Given the description of an element on the screen output the (x, y) to click on. 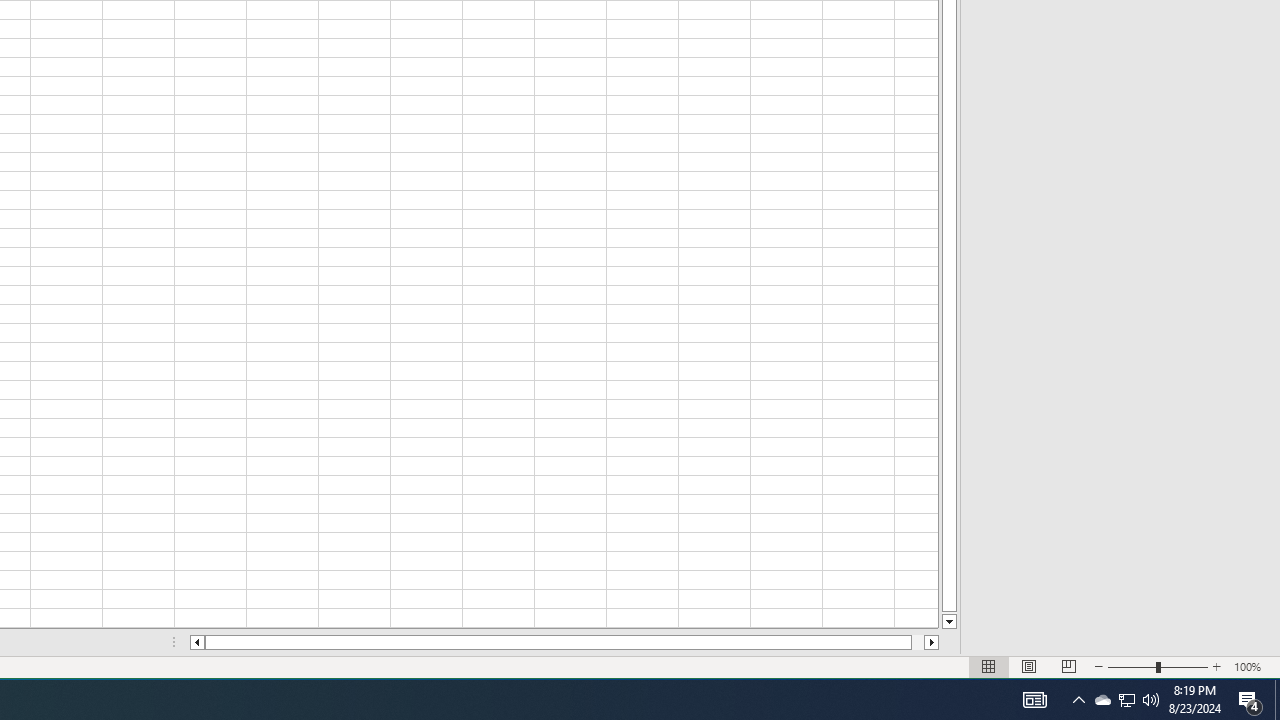
Show desktop (1277, 699)
AutomationID: 4105 (1034, 699)
Class: NetUIScrollBar (1126, 699)
Zoom (564, 642)
Page Break Preview (1158, 667)
Page Layout (1069, 667)
Page right (1028, 667)
Normal (917, 642)
Zoom In (988, 667)
User Promoted Notification Area (1217, 667)
Column right (1102, 699)
Column left (1126, 699)
